Given the description of an element on the screen output the (x, y) to click on. 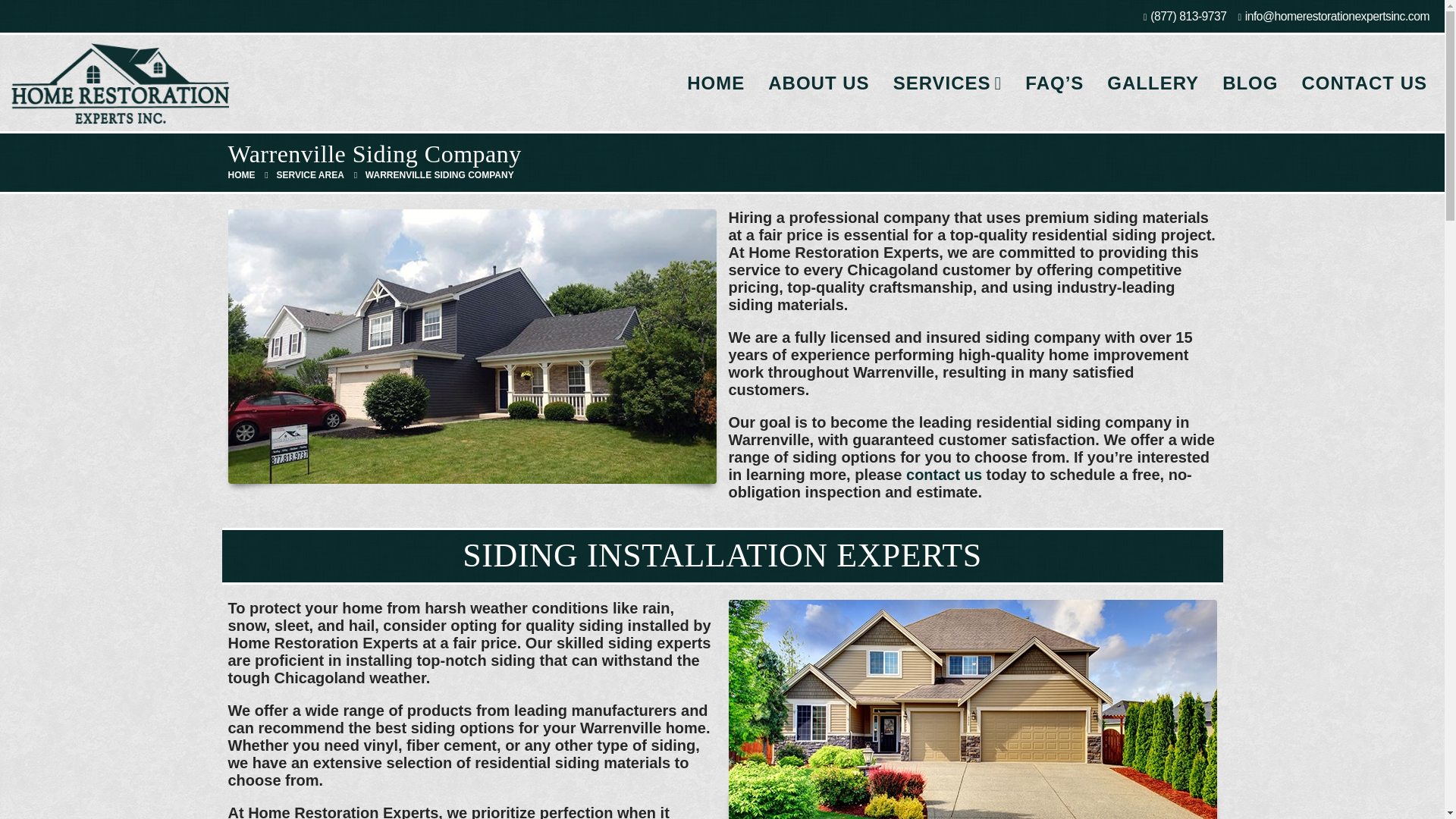
SERVICES (947, 82)
Home Restoration Experts - Naperville Roofing Company (118, 82)
Go to Home Page (240, 175)
GALLERY (1152, 82)
Home Restoration Experts Residential Siding Installation (971, 709)
BLOG (1249, 82)
contact us (943, 474)
HOME (715, 82)
SERVICE AREA (309, 175)
ABOUT US (818, 82)
CONTACT US (1364, 82)
HOME (240, 175)
